Given the description of an element on the screen output the (x, y) to click on. 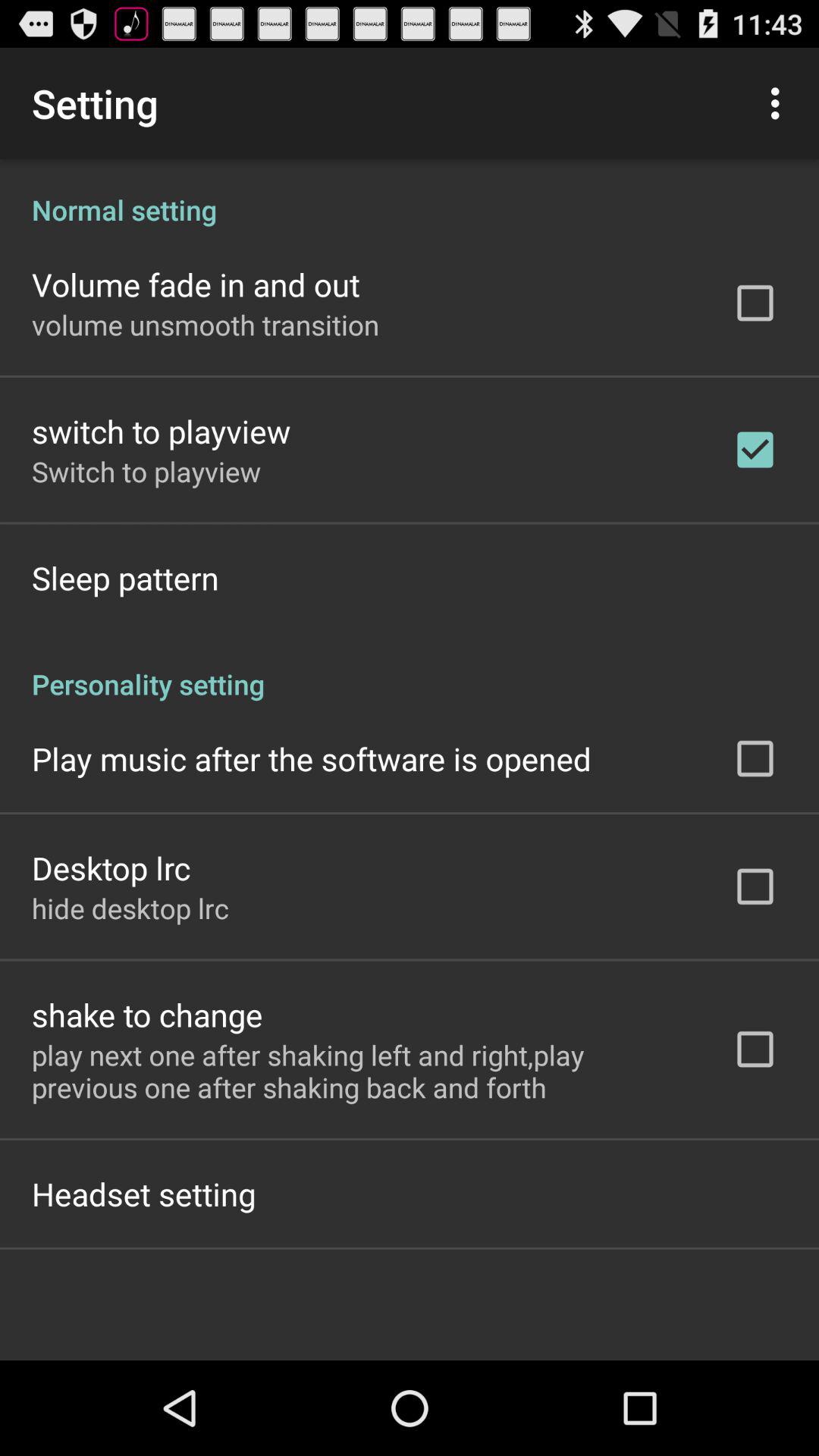
turn off the icon above volume unsmooth transition icon (195, 283)
